Given the description of an element on the screen output the (x, y) to click on. 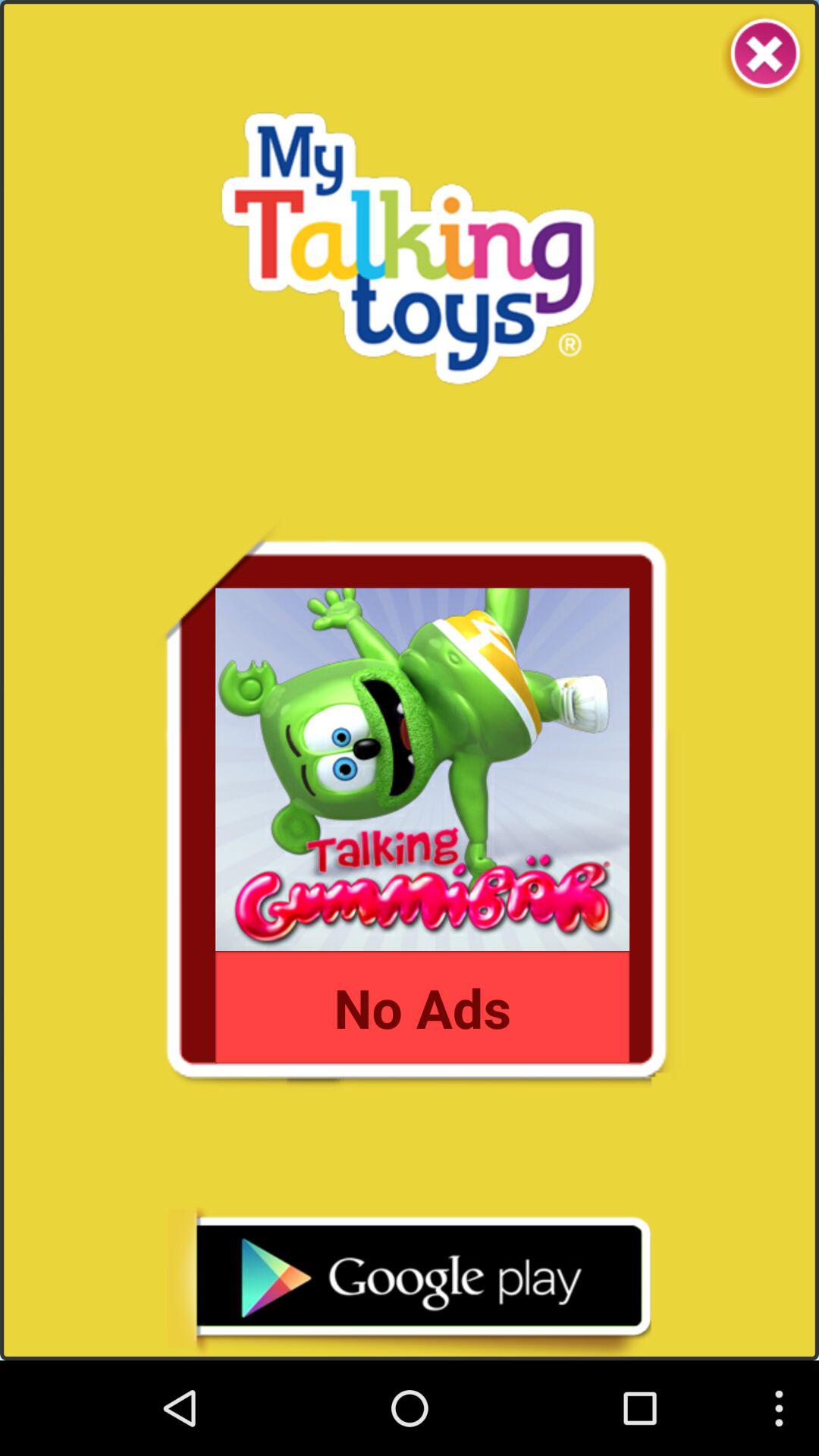
close page (762, 55)
